Given the description of an element on the screen output the (x, y) to click on. 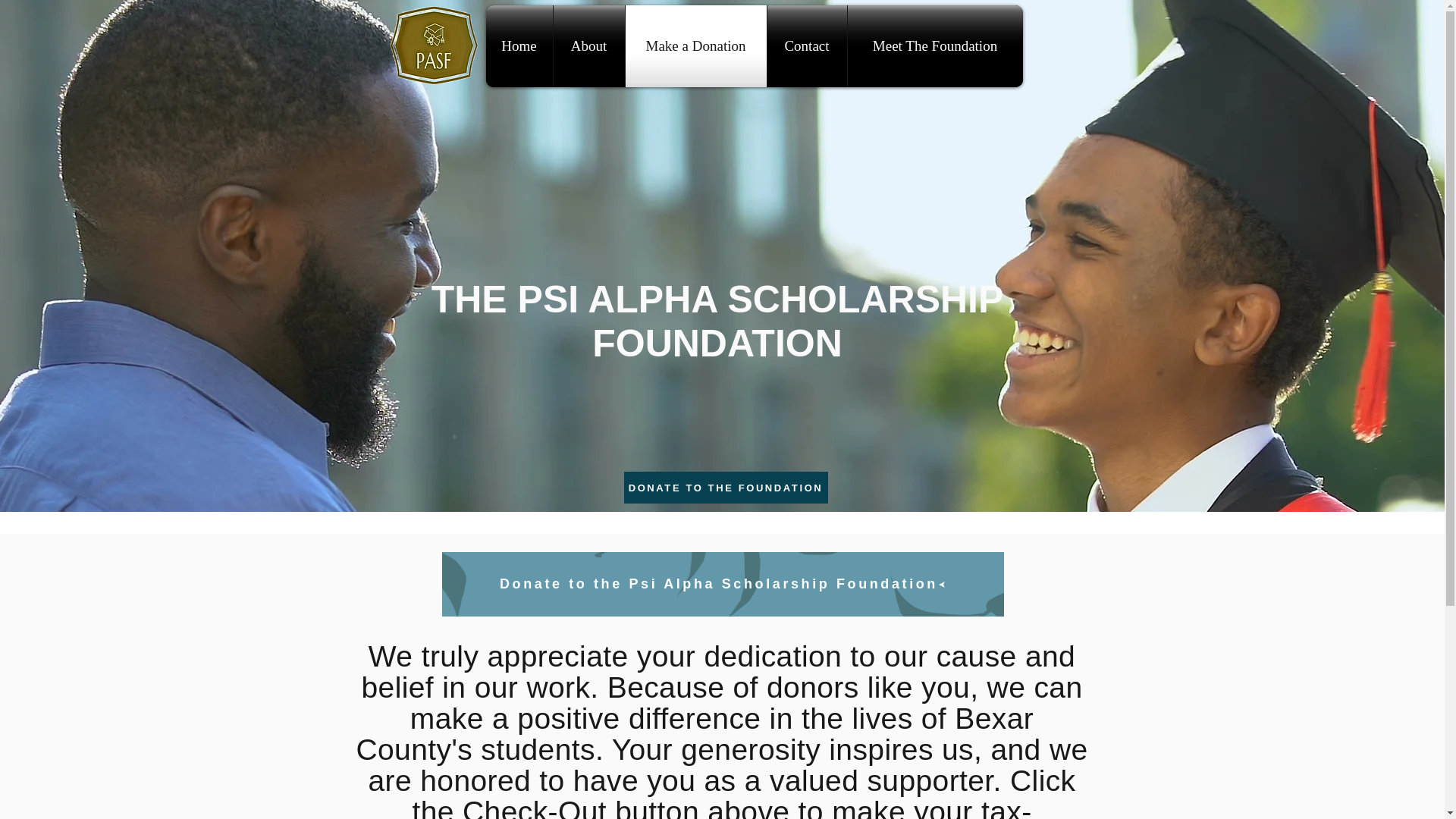
Contact (807, 45)
Meet The Foundation (935, 45)
DONATE TO THE FOUNDATION (725, 487)
Donate to the Psi Alpha Scholarship Foundation (722, 584)
Make a Donation (694, 45)
